Given the description of an element on the screen output the (x, y) to click on. 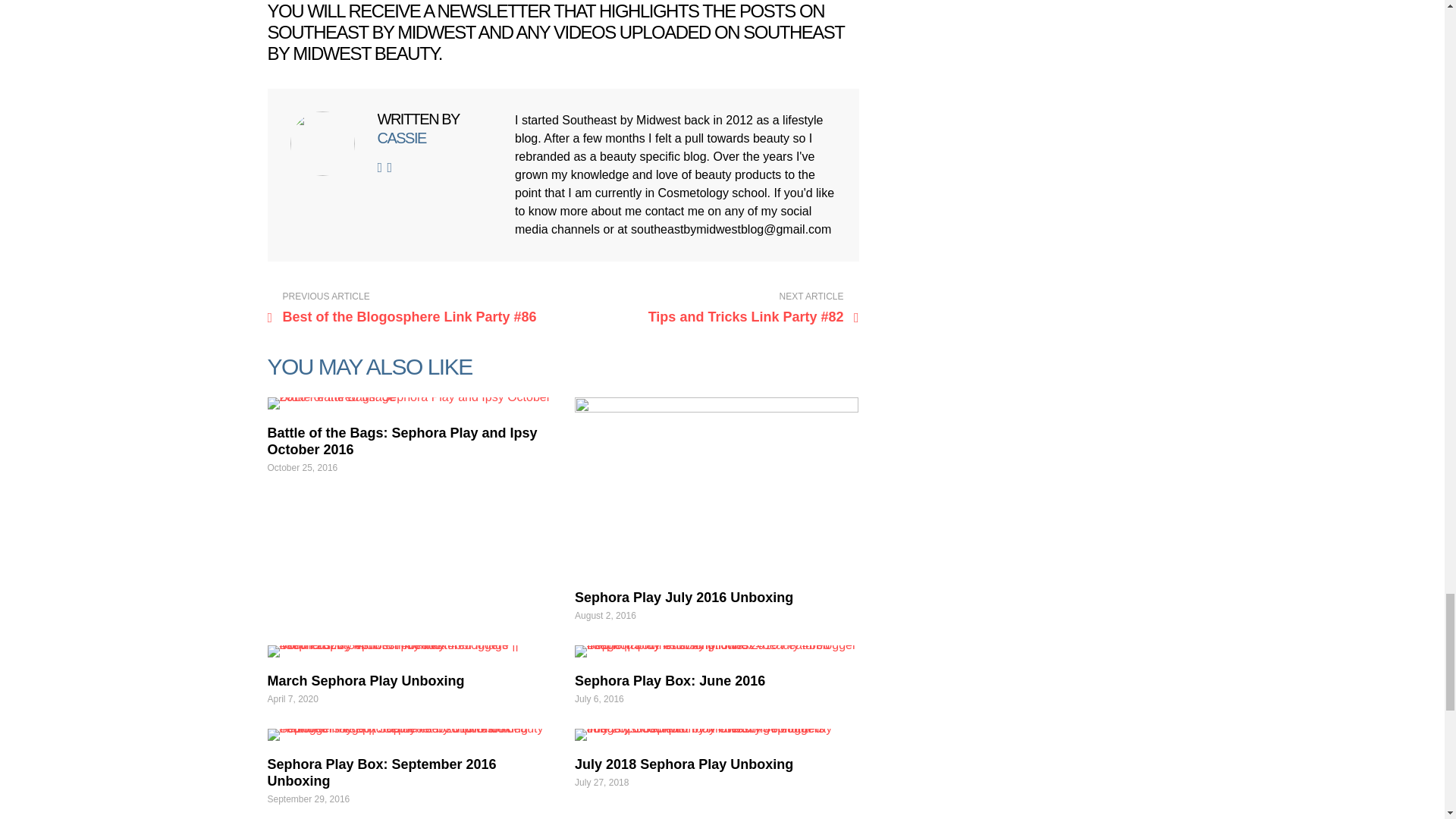
Battle of the Bags: Sephora Play and Ipsy October 2016 (401, 440)
Sephora Play Box: September 2016 Unboxing (381, 772)
Sephora Play Box: June 2016 (717, 651)
Sephora Play July 2016 Unboxing (684, 597)
Battle of the Bags: Sephora Play and Ipsy October 2016 (408, 403)
Sephora Play July 2016 Unboxing (717, 485)
Sephora Play Box: June 2016 (670, 680)
March Sephora Play Unboxing (408, 651)
March Sephora Play Unboxing (365, 680)
Sephora Play Box: September 2016 Unboxing (408, 734)
